Given the description of an element on the screen output the (x, y) to click on. 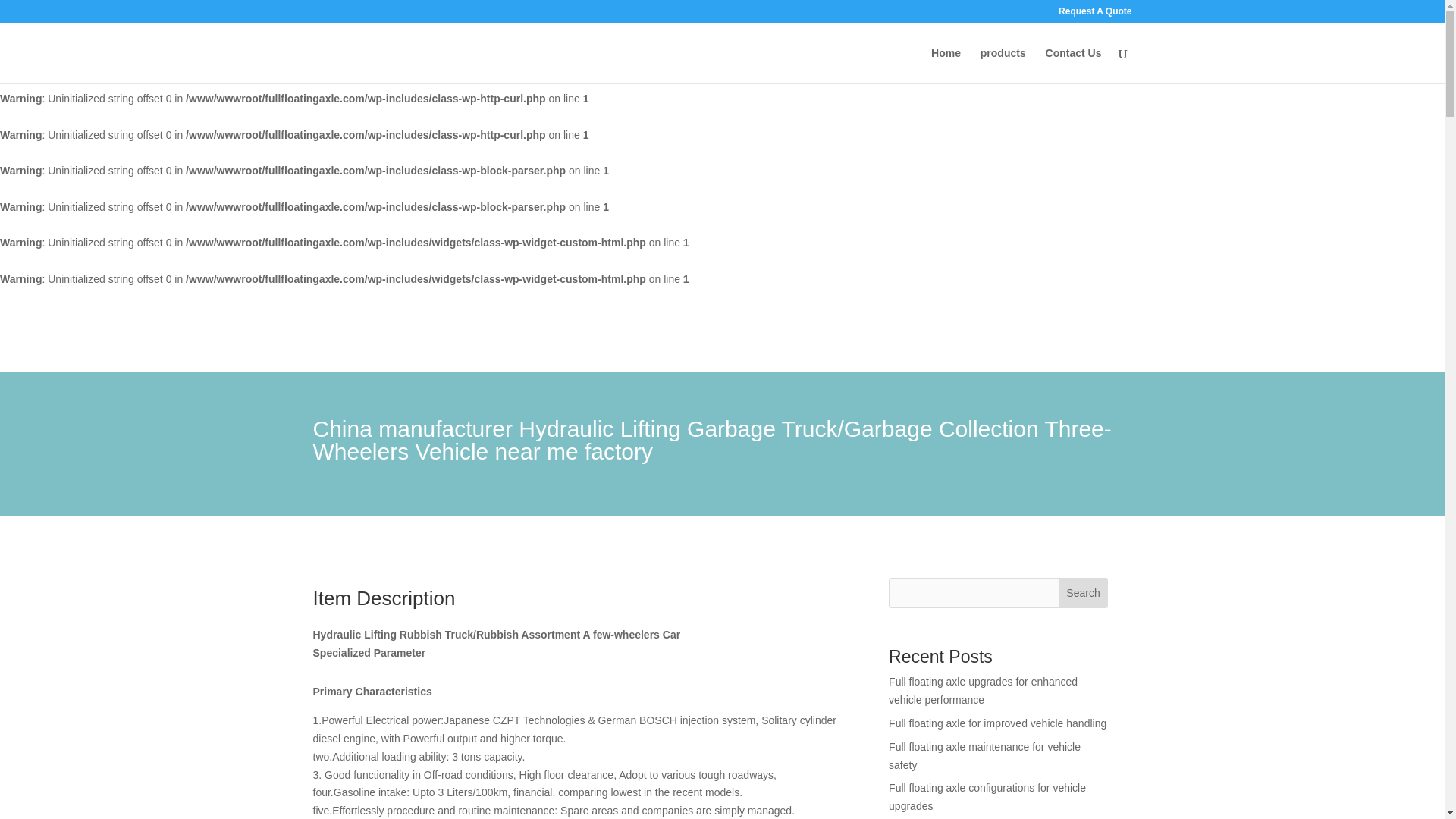
Request A Quote (1094, 14)
products (1002, 65)
Full floating axle for improved vehicle handling (997, 723)
Search (1083, 593)
Contact Us (1073, 65)
Full floating axle upgrades for enhanced vehicle performance (982, 690)
Full floating axle configurations for vehicle upgrades (987, 797)
Full floating axle maintenance for vehicle safety (984, 756)
